Given the description of an element on the screen output the (x, y) to click on. 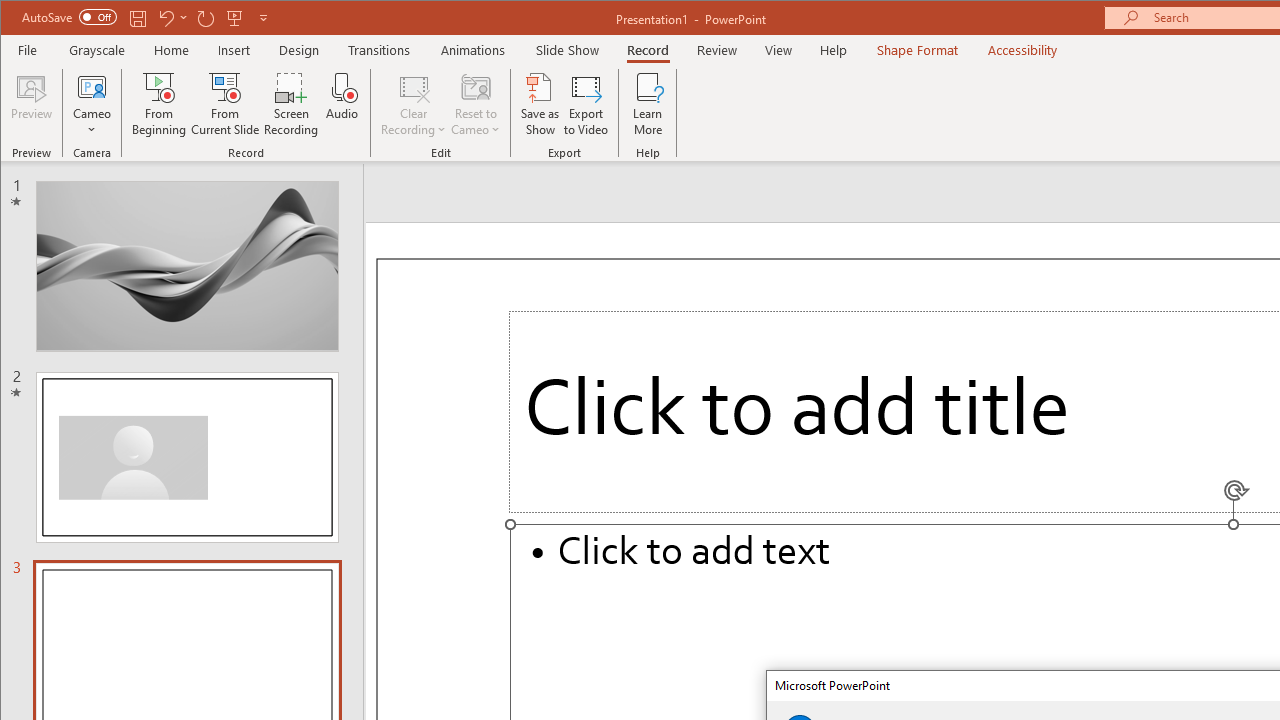
Clear Recording (413, 104)
Screen Recording (291, 104)
From Beginning... (159, 104)
